Given the description of an element on the screen output the (x, y) to click on. 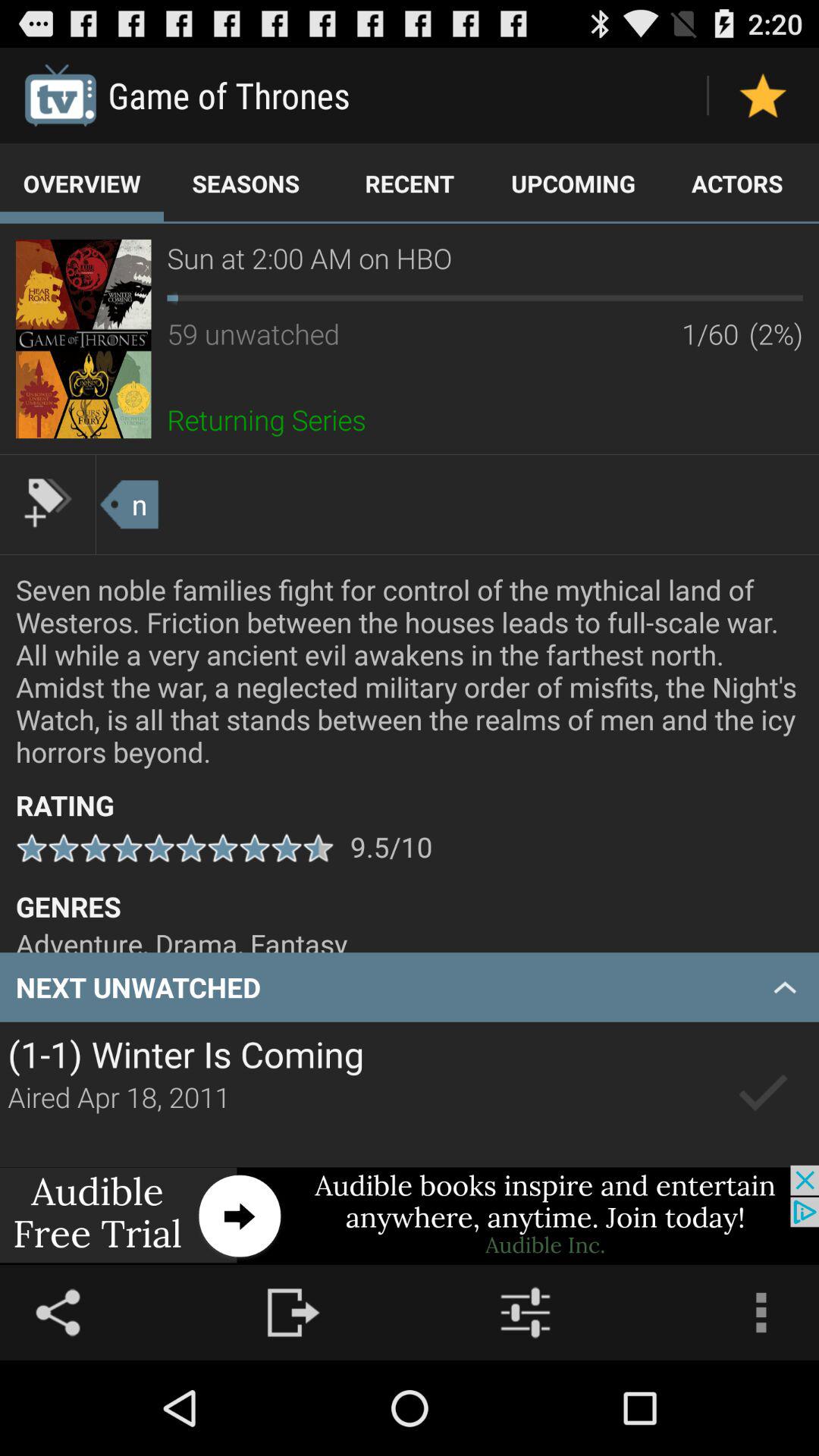
view tv show poster (83, 338)
